Given the description of an element on the screen output the (x, y) to click on. 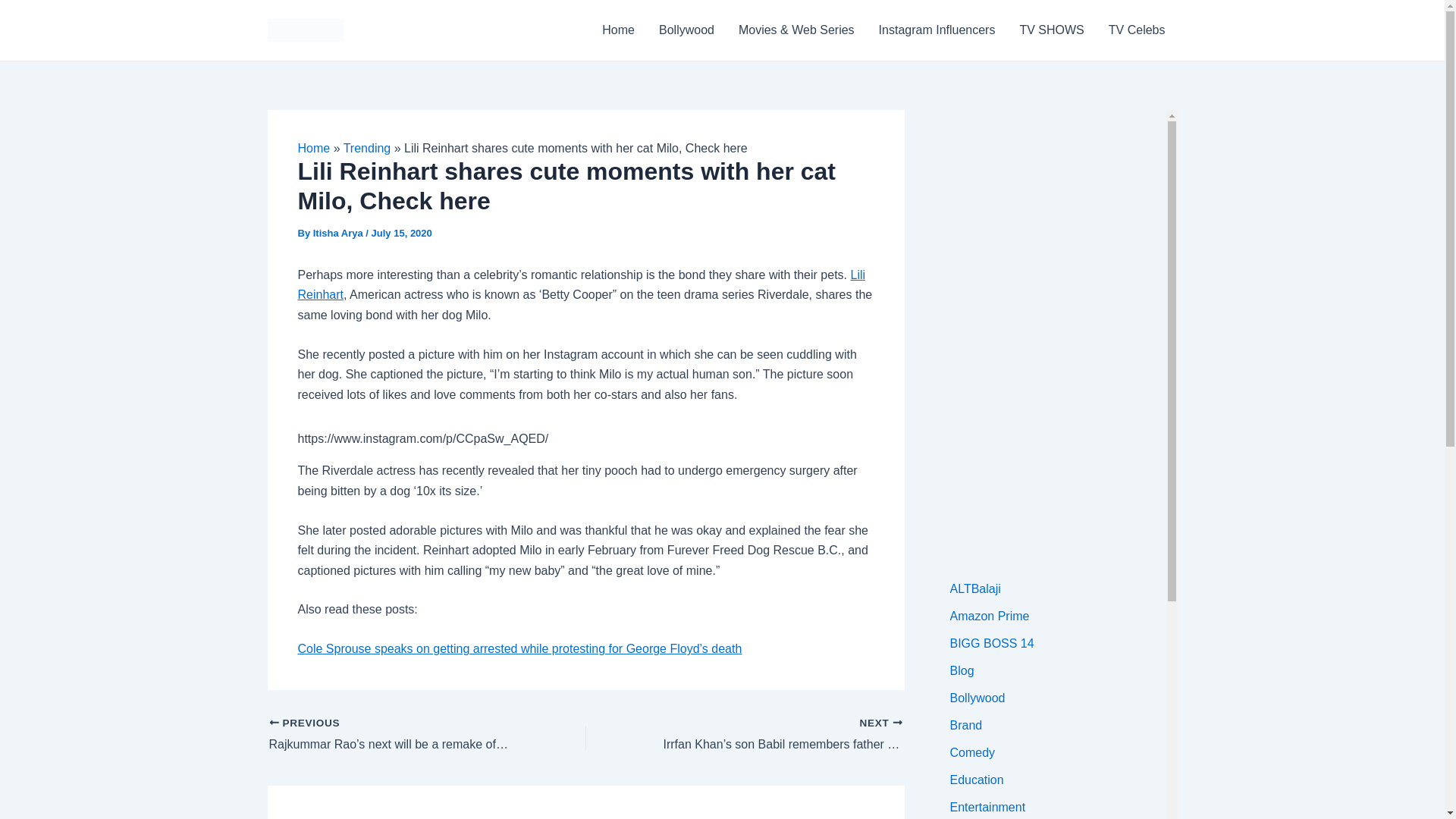
TV Celebs (1136, 30)
Bollywood (686, 30)
TV SHOWS (1051, 30)
Home (617, 30)
Home (313, 147)
Instagram Influencers (936, 30)
Lili Reinhart (580, 284)
View all posts by Itisha Arya (339, 233)
Itisha Arya (339, 233)
